Given the description of an element on the screen output the (x, y) to click on. 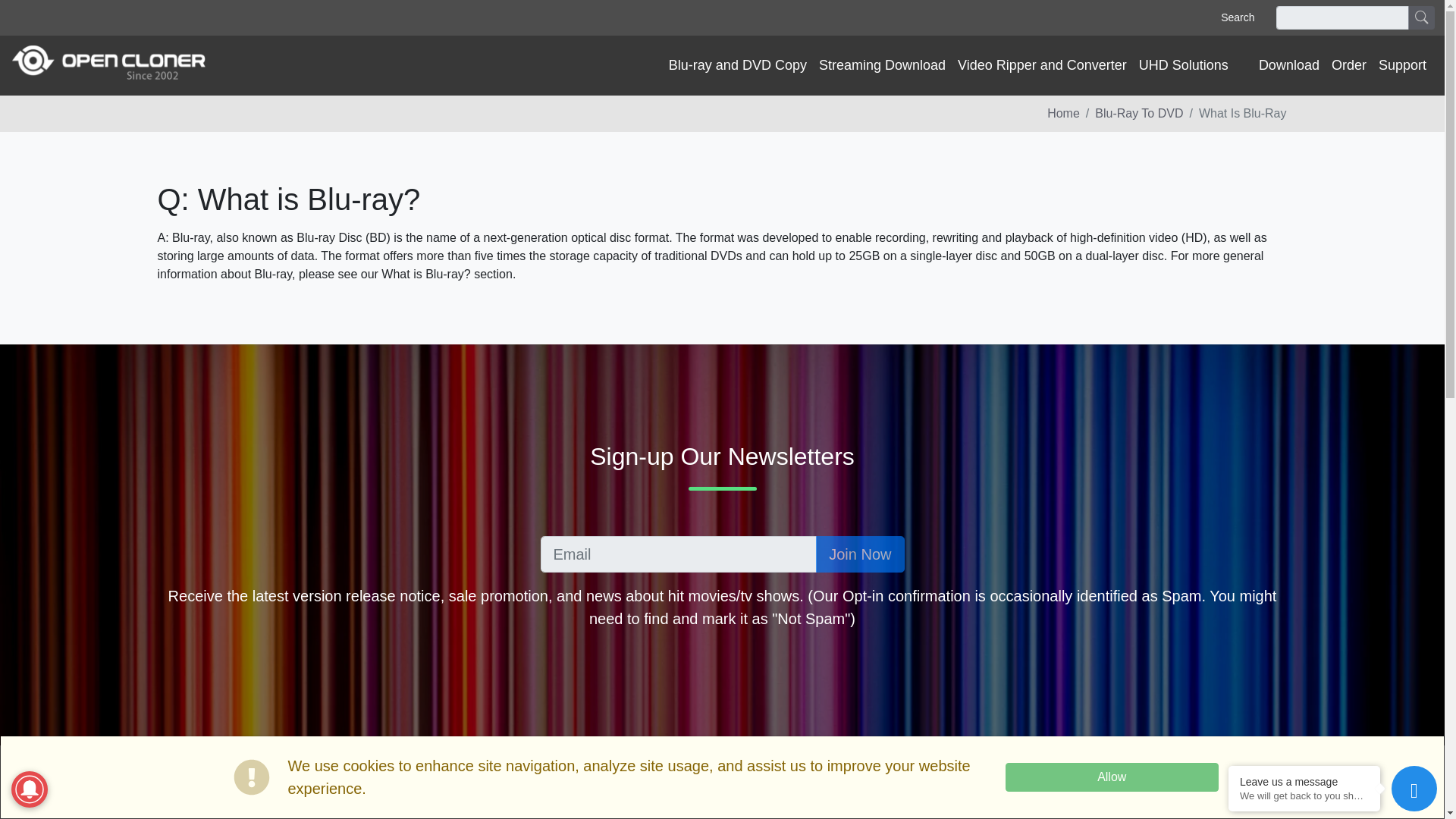
Video Ripper and Converter (1042, 64)
Leave us a message (1304, 781)
Order (1348, 64)
We will get back to you shortly. (1304, 795)
Download (1288, 64)
Support (1402, 64)
UHD Solutions (1183, 64)
DVD Cloner (108, 65)
Blu-ray and DVD Copy (737, 64)
Streaming Download (882, 64)
